Given the description of an element on the screen output the (x, y) to click on. 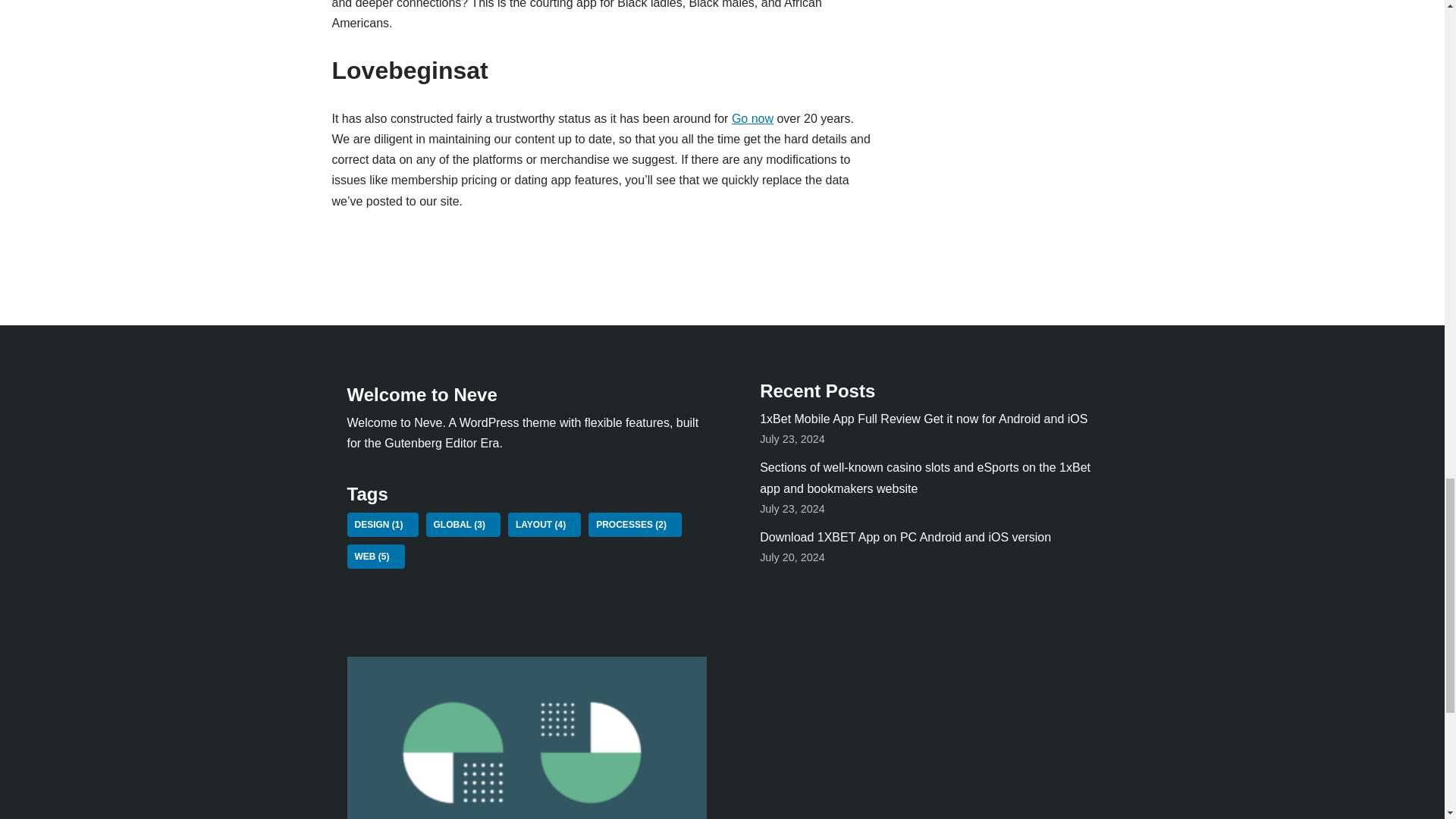
1xBet Mobile App Full Review Get it now for Android and iOS (923, 418)
Download 1XBET App on PC Android and iOS version (905, 536)
Go now (752, 118)
